Given the description of an element on the screen output the (x, y) to click on. 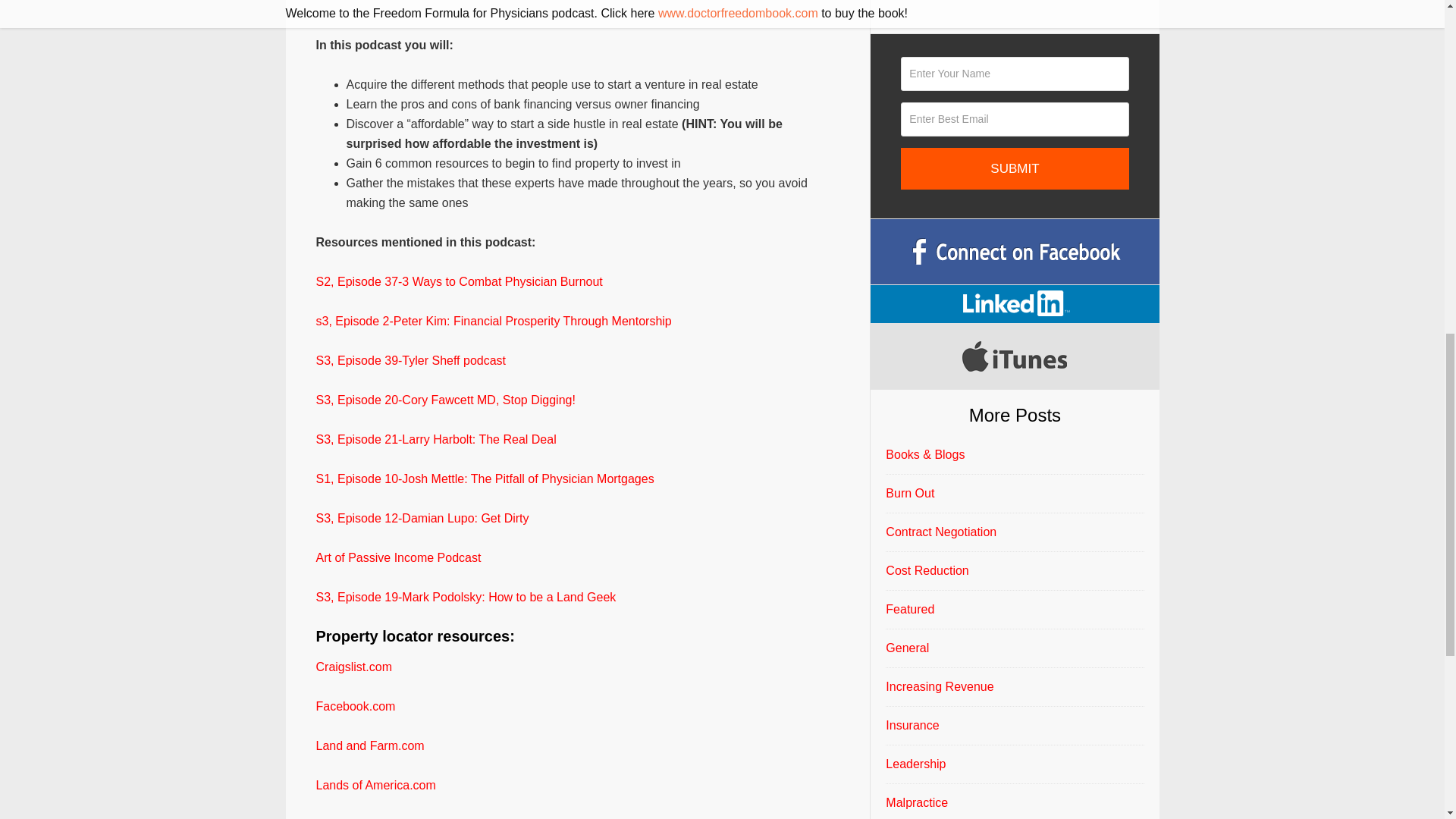
S3, Episode 19-Mark Podolsky: How to be a Land Geek (465, 596)
Enter Best Email (1014, 119)
Enter Your Name (1014, 73)
LinkedIn (1014, 303)
S3, Episode 12-Damian Lupo: Get Dirty (421, 517)
Craigslist.com (353, 666)
Land and Farm.com (369, 745)
S2, Episode 37-3 Ways to Combat Physician Burnout (458, 281)
S3, Episode 20-Cory Fawcett MD, Stop Digging! (445, 399)
Lands of America.com (375, 784)
